Given the description of an element on the screen output the (x, y) to click on. 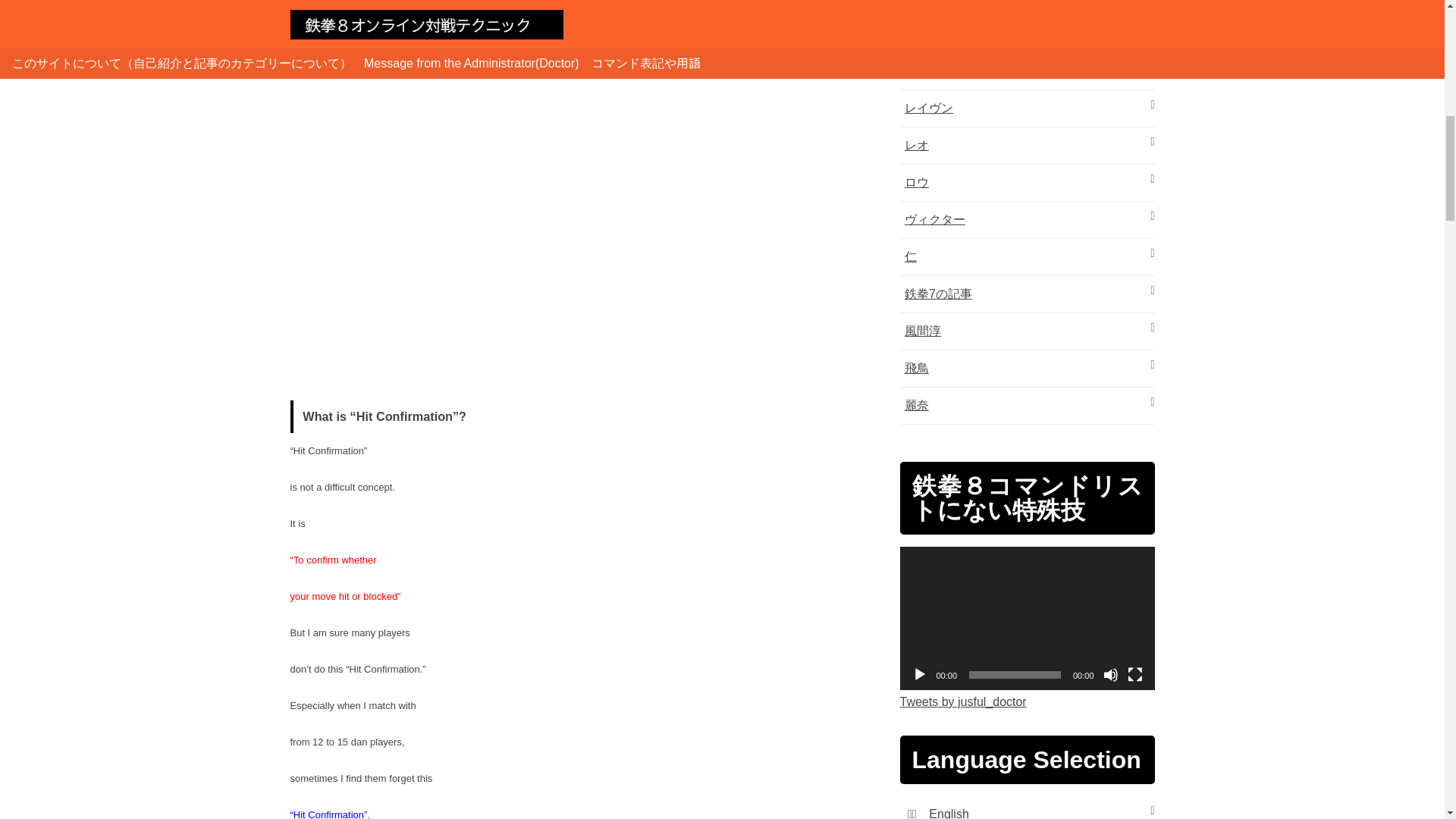
Advertisement (584, 272)
Mute (1110, 674)
Play (918, 674)
Fullscreen (1133, 674)
English (948, 813)
